Given the description of an element on the screen output the (x, y) to click on. 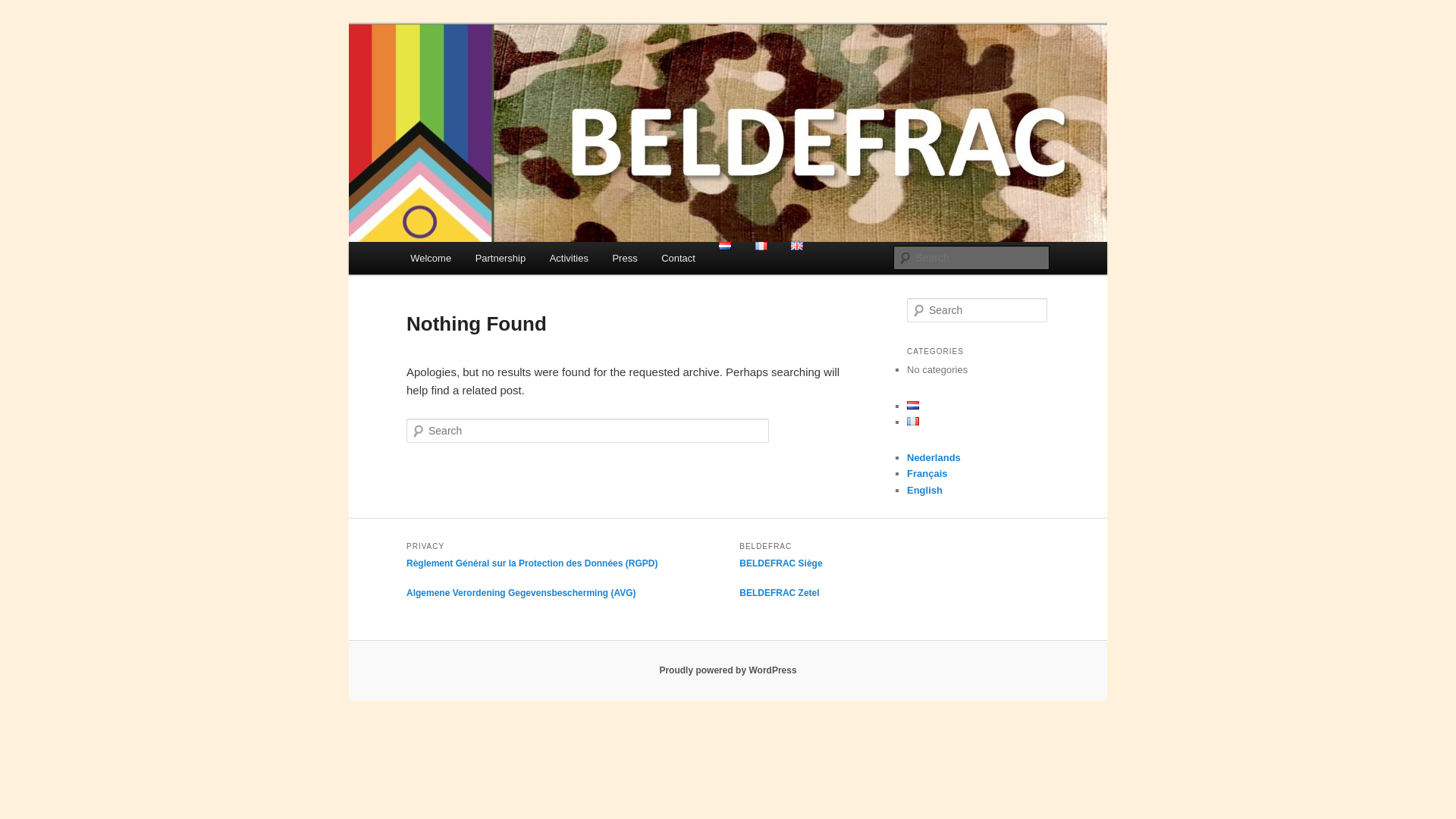
Welcome Element type: text (430, 257)
Skip to primary content Element type: text (22, 22)
Belgian Defence Rainbow Community Element type: text (610, 78)
English Element type: text (924, 489)
BELDEFRAC Zetel Element type: text (779, 592)
Press Element type: text (624, 257)
Proudly powered by WordPress Element type: text (727, 670)
Activities Element type: text (568, 257)
Partnership Element type: text (500, 257)
Contact Element type: text (677, 257)
Nederlands Element type: text (933, 457)
Algemene Verordening Gegevensbescherming (AVG) Element type: text (521, 592)
Search Element type: text (20, 10)
Search Element type: text (24, 8)
